Given the description of an element on the screen output the (x, y) to click on. 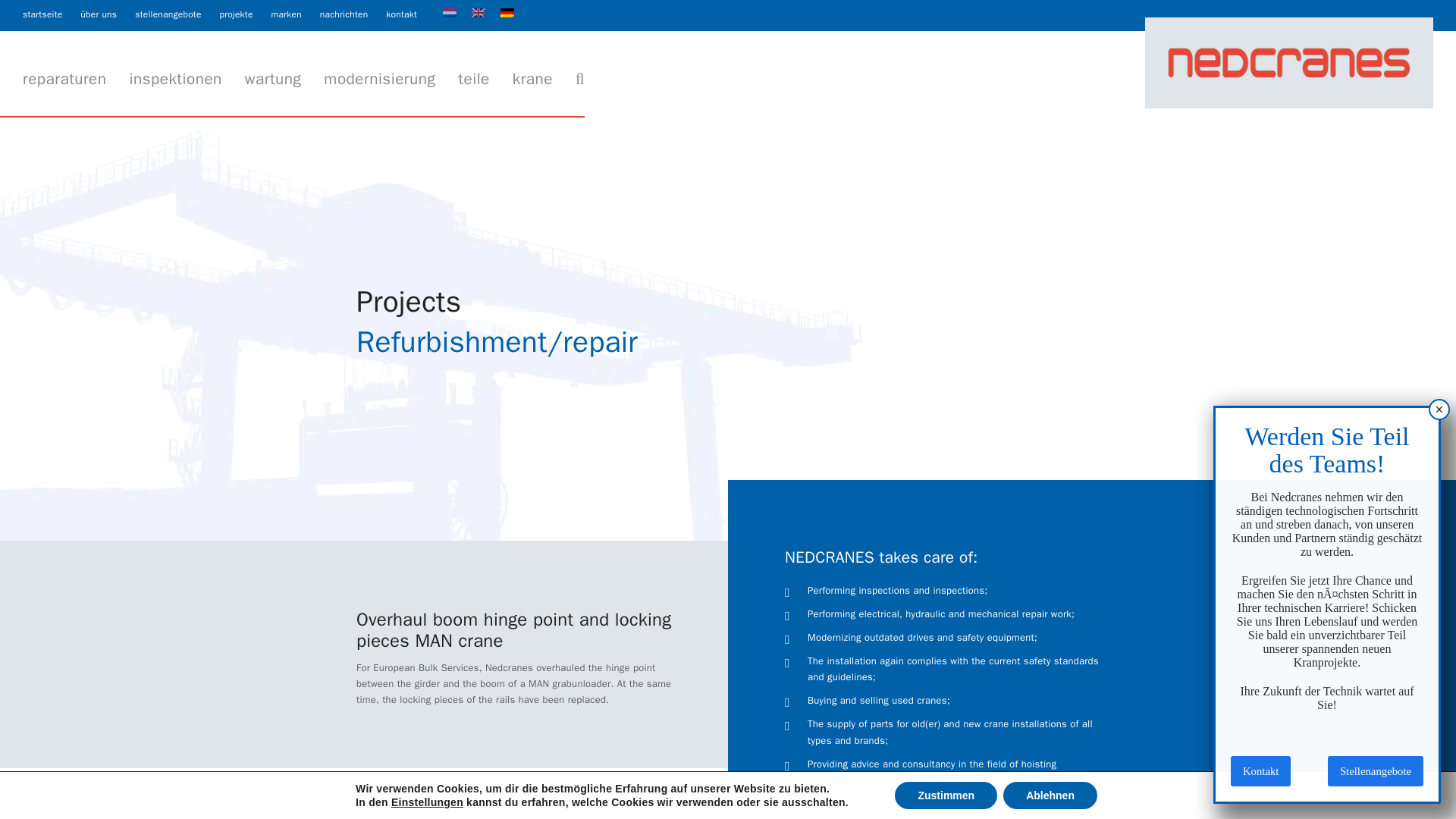
marken (285, 14)
inspektionen (174, 79)
modernisierung (379, 79)
stellenangebote (168, 14)
nachrichten (344, 14)
Website besuchen (1260, 770)
Website besuchen (42, 14)
projekte (1375, 770)
